Given the description of an element on the screen output the (x, y) to click on. 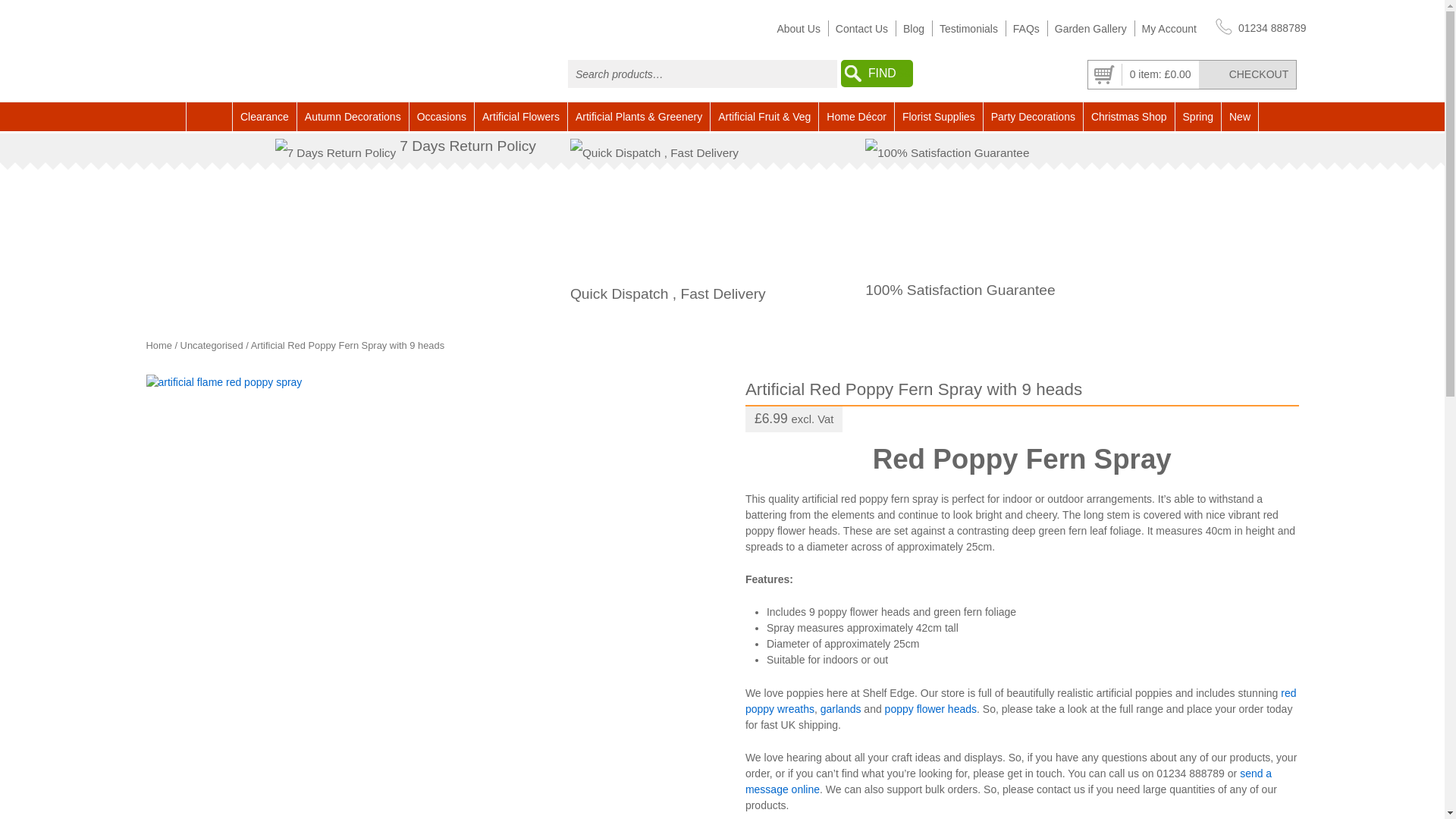
Contact Us (861, 28)
Search (876, 72)
Autumn Decorations (353, 116)
CHECKOUT (1247, 74)
Testimonials (968, 28)
Garden Gallery (1090, 28)
My Account (1168, 28)
Blog (913, 28)
Clearance (264, 116)
